Given the description of an element on the screen output the (x, y) to click on. 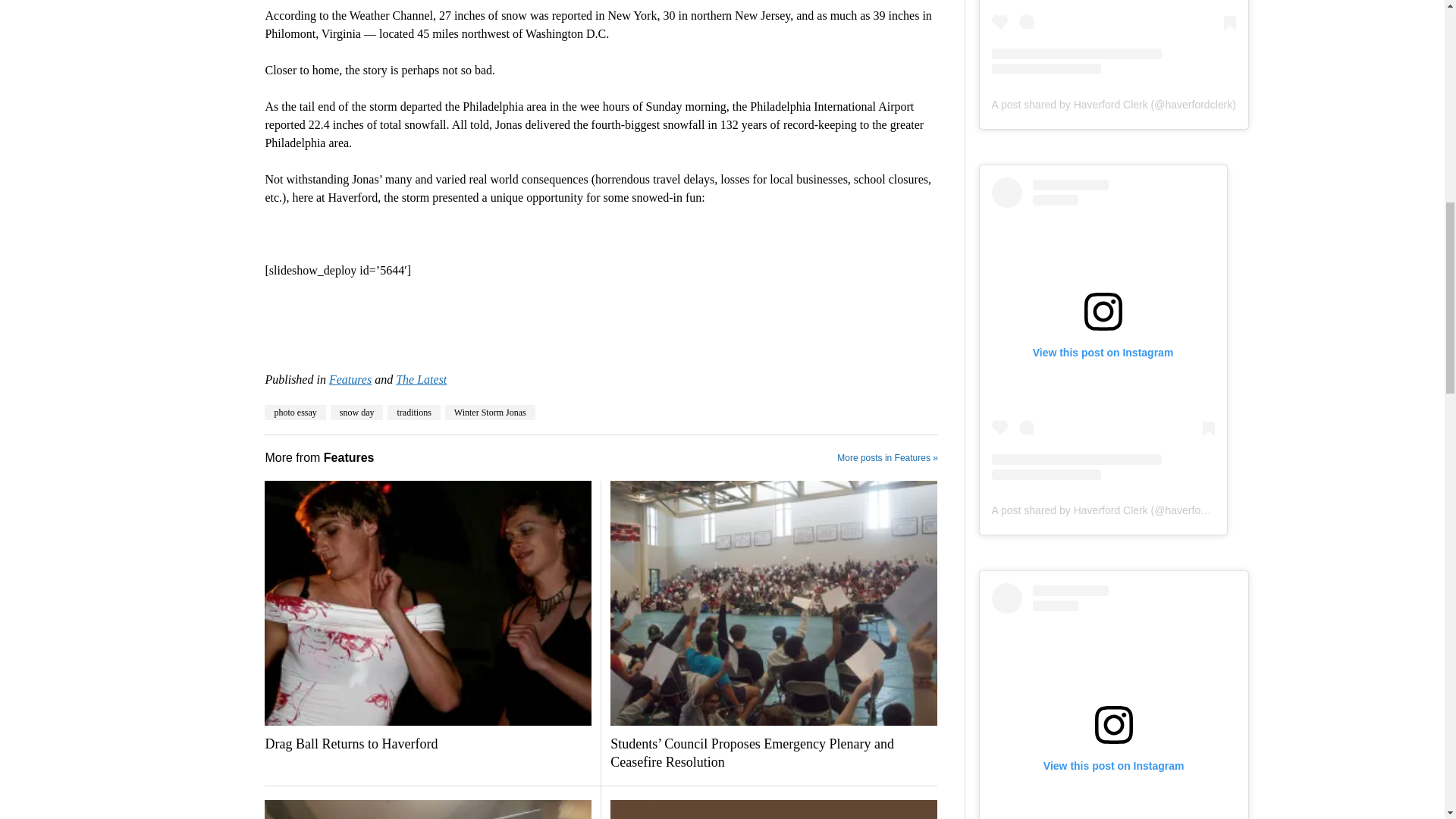
View all posts tagged Winter Storm Jonas (490, 412)
Winter Storm Jonas (490, 412)
View all posts tagged snow day (357, 412)
Features (350, 379)
View all posts tagged photo essay (294, 412)
View all posts in The Latest (421, 379)
View all posts tagged traditions (413, 412)
snow day (357, 412)
The Latest (421, 379)
Drag Ball Returns to Haverford (427, 744)
traditions (413, 412)
View all posts in Features (350, 379)
photo essay (294, 412)
